Given the description of an element on the screen output the (x, y) to click on. 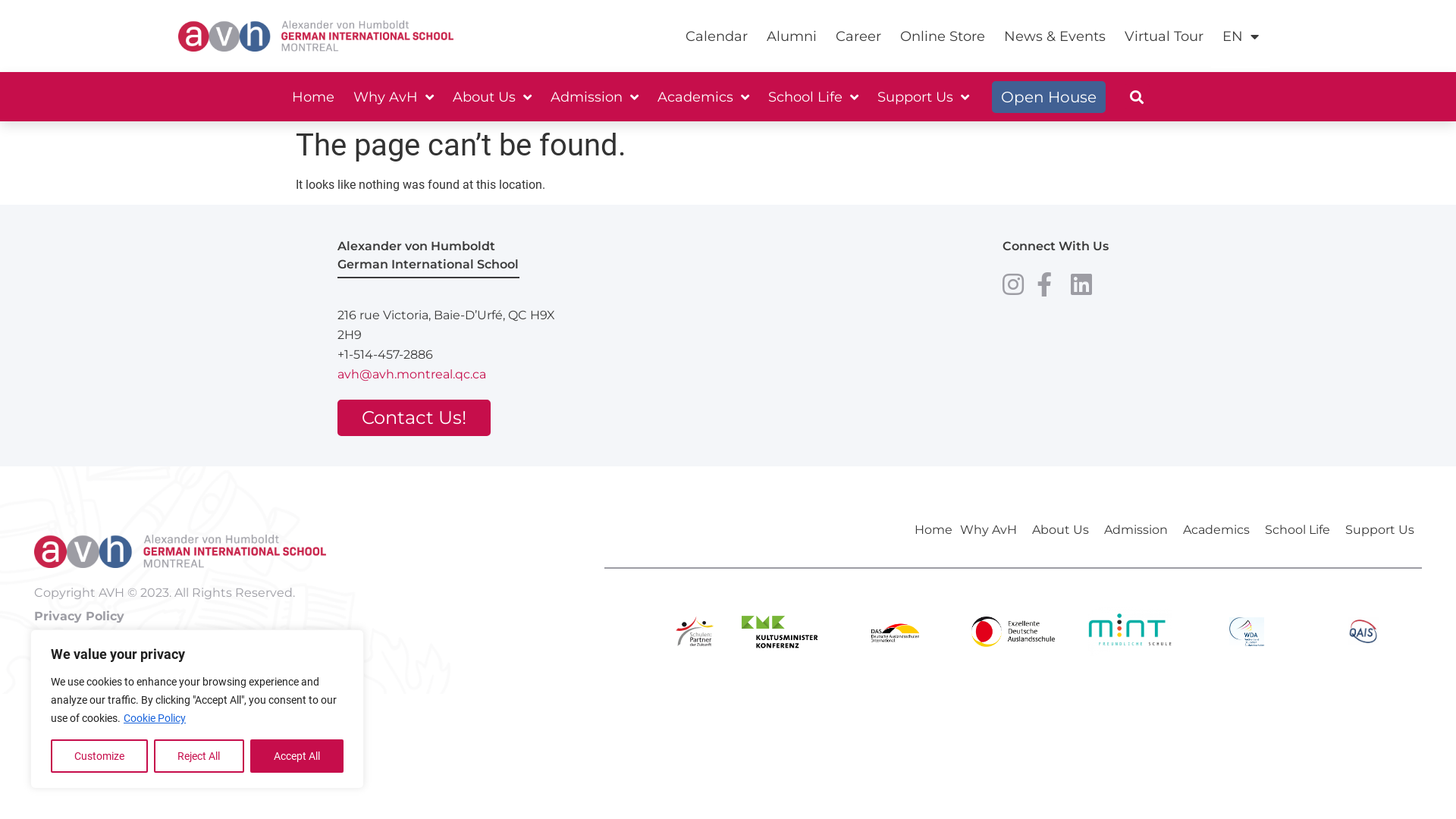
Alumni Element type: text (791, 36)
avh@avh.montreal.qc.ca Element type: text (446, 374)
School Life Element type: text (1300, 529)
Privacy Policy Element type: text (79, 615)
Support Us Element type: text (1383, 529)
Reject All Element type: text (198, 755)
+1-514-457-2886 Element type: text (446, 354)
Career Element type: text (858, 36)
Why AvH Element type: text (393, 96)
Support Us Element type: text (922, 96)
About Us Element type: text (1064, 529)
Online Store Element type: text (942, 36)
Academics Element type: text (1220, 529)
Virtual Tour Element type: text (1163, 36)
Home Element type: text (933, 529)
Accept All Element type: text (296, 755)
School Life Element type: text (812, 96)
Academics Element type: text (702, 96)
Contact Us! Element type: text (413, 417)
About Us Element type: text (490, 96)
EN Element type: text (1240, 35)
Open House Element type: text (1048, 96)
Calendar Element type: text (716, 36)
Why AvH Element type: text (992, 529)
Admission Element type: text (594, 96)
Cookie Policy Element type: text (154, 717)
Home Element type: text (312, 96)
Admission Element type: text (1139, 529)
Customize Element type: text (98, 755)
News & Events Element type: text (1054, 36)
